Given the description of an element on the screen output the (x, y) to click on. 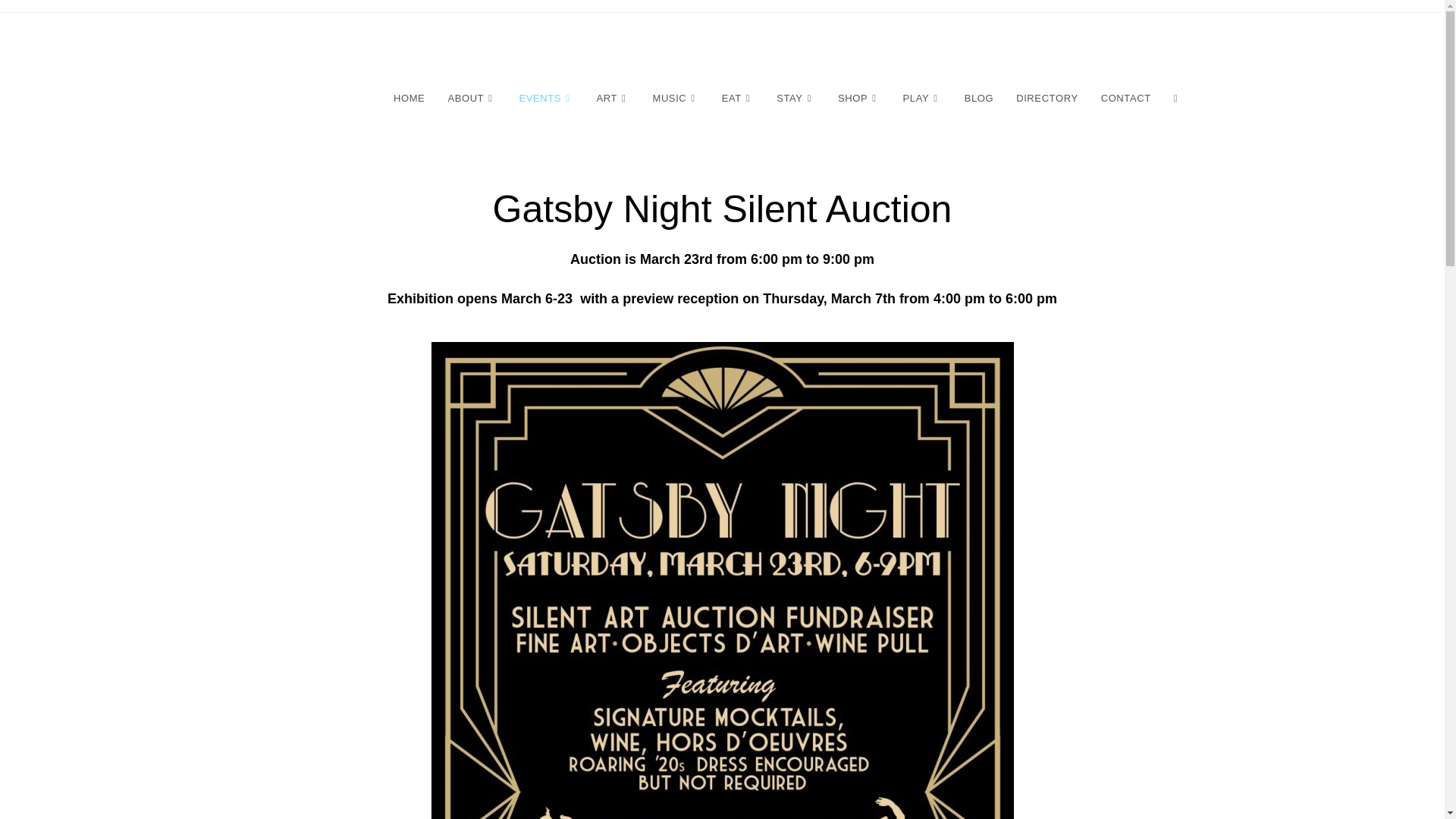
Winnsboro Online Guide (365, 41)
EVENTS (546, 98)
HOME (408, 98)
STAY (796, 98)
ART (613, 98)
SHOP (859, 98)
MUSIC (675, 98)
EAT (737, 98)
ABOUT (470, 98)
